Given the description of an element on the screen output the (x, y) to click on. 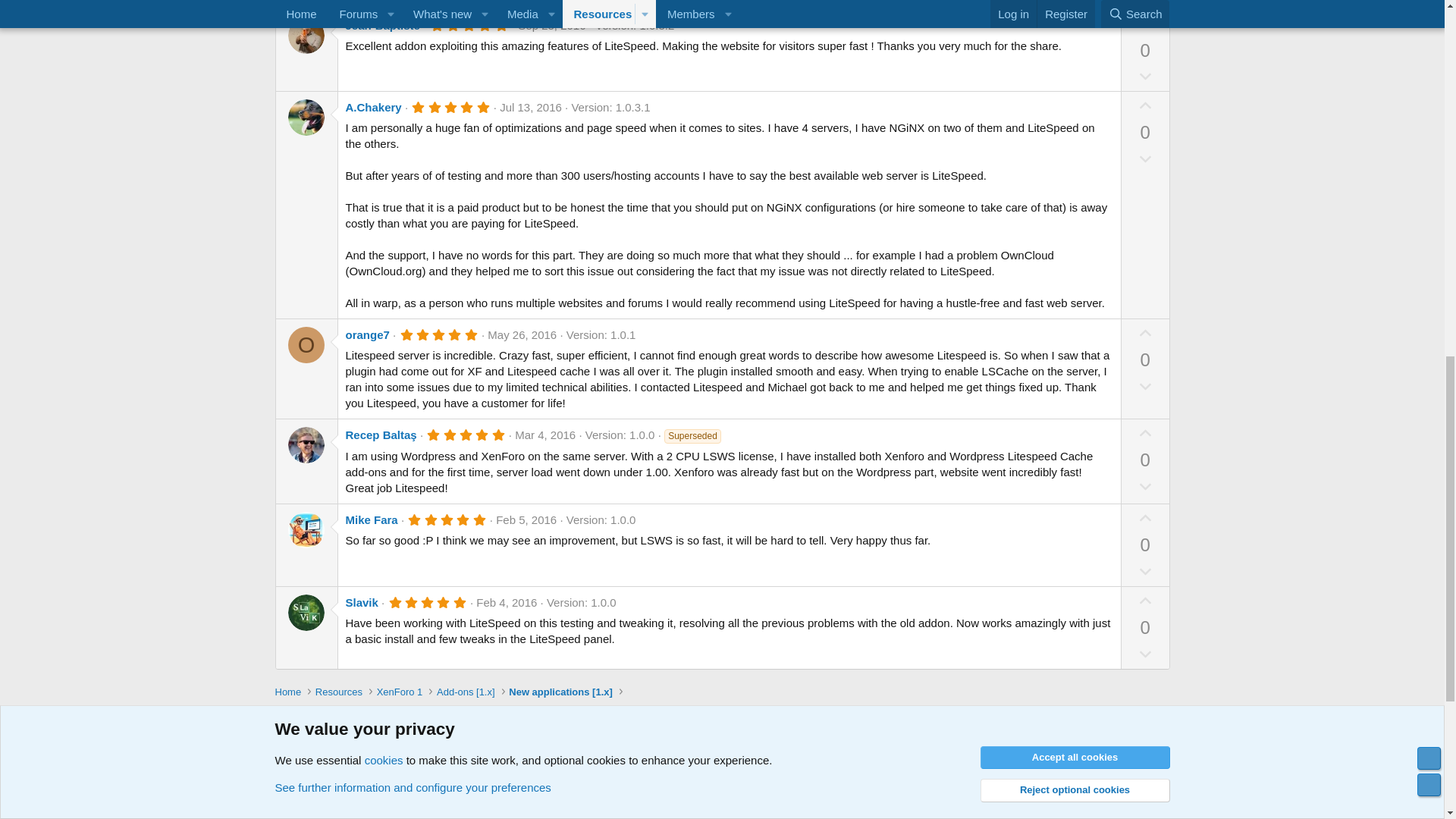
Sep 23, 2016 at 9:25 AM (551, 24)
Style variation (342, 740)
Jul 13, 2016 at 8:33 PM (530, 106)
